Given the description of an element on the screen output the (x, y) to click on. 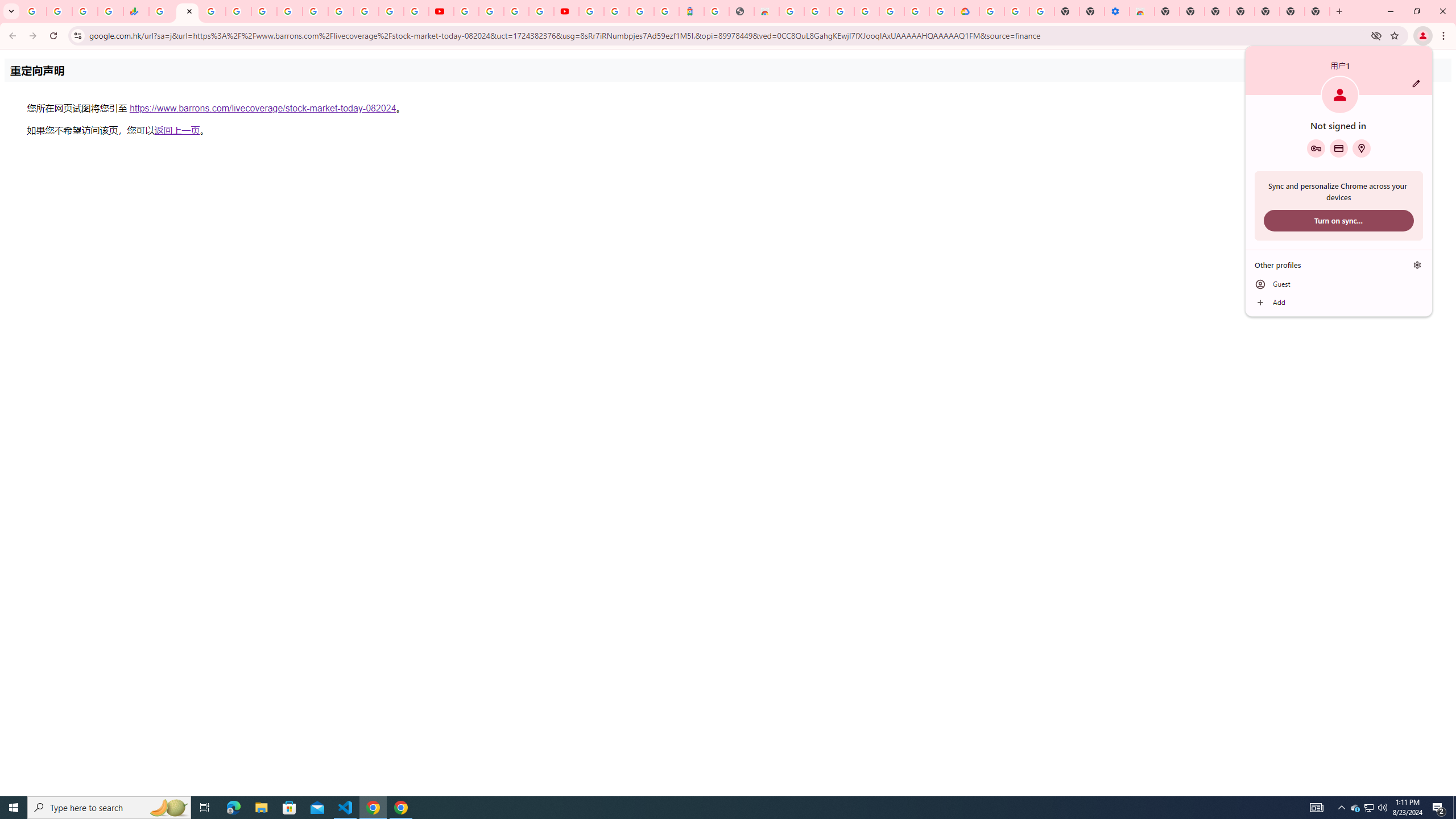
Third-party cookies blocked (1376, 35)
Google Chrome - 1 running window (400, 807)
New Tab (1317, 11)
Chrome Web Store - Household (766, 11)
Sign in - Google Accounts (365, 11)
Show desktop (1454, 807)
Addresses and more (1361, 148)
Payment methods (1338, 148)
Microsoft Store (289, 807)
Action Center, 2 new notifications (1439, 807)
YouTube (340, 11)
Guest (1338, 284)
